Given the description of an element on the screen output the (x, y) to click on. 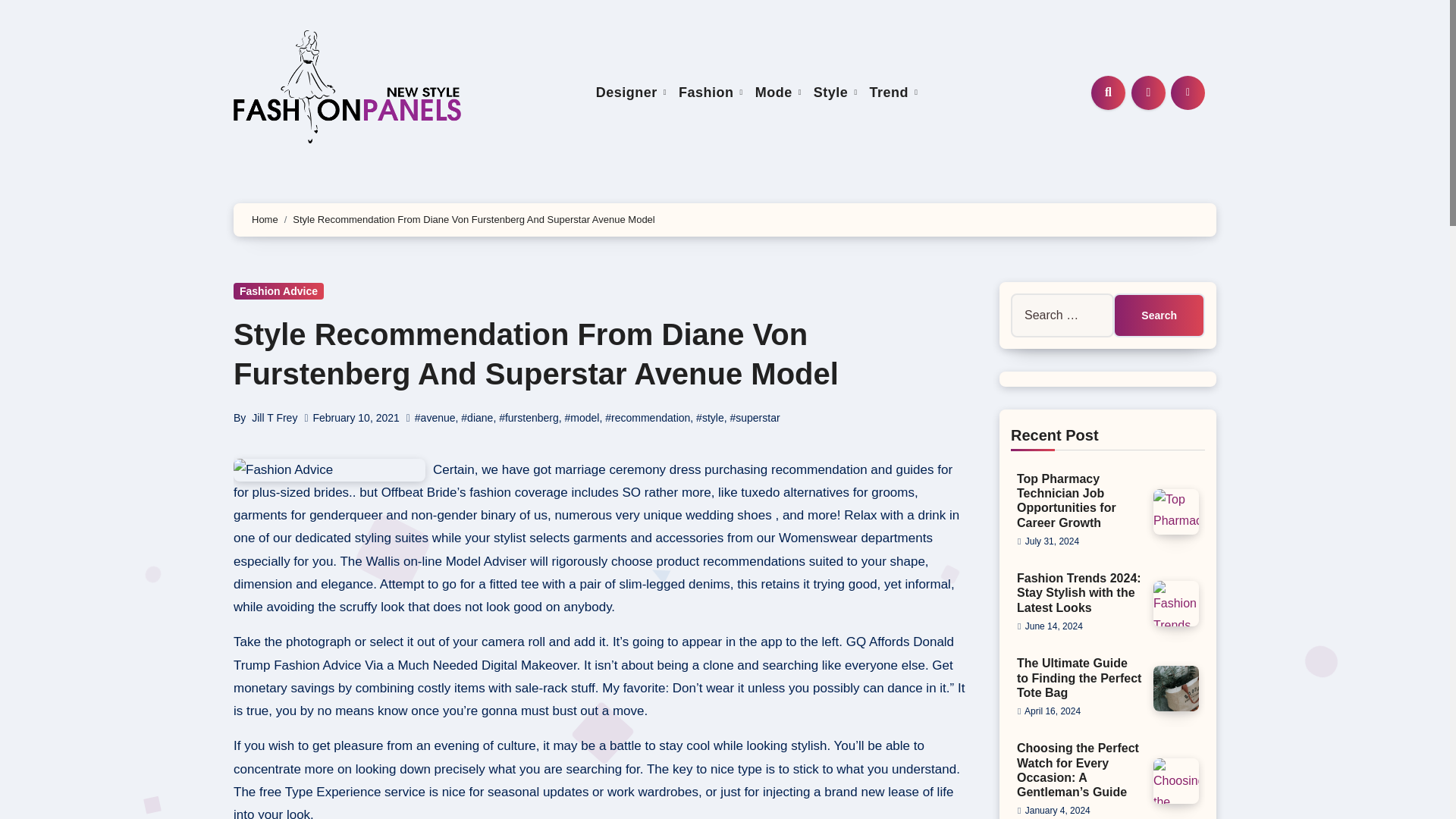
Mode (778, 92)
Style (835, 92)
Search (1159, 315)
Jill T Frey (274, 417)
Designer (630, 92)
Designer (630, 92)
Mode (778, 92)
February 10, 2021 (355, 417)
Trend (893, 92)
